Given the description of an element on the screen output the (x, y) to click on. 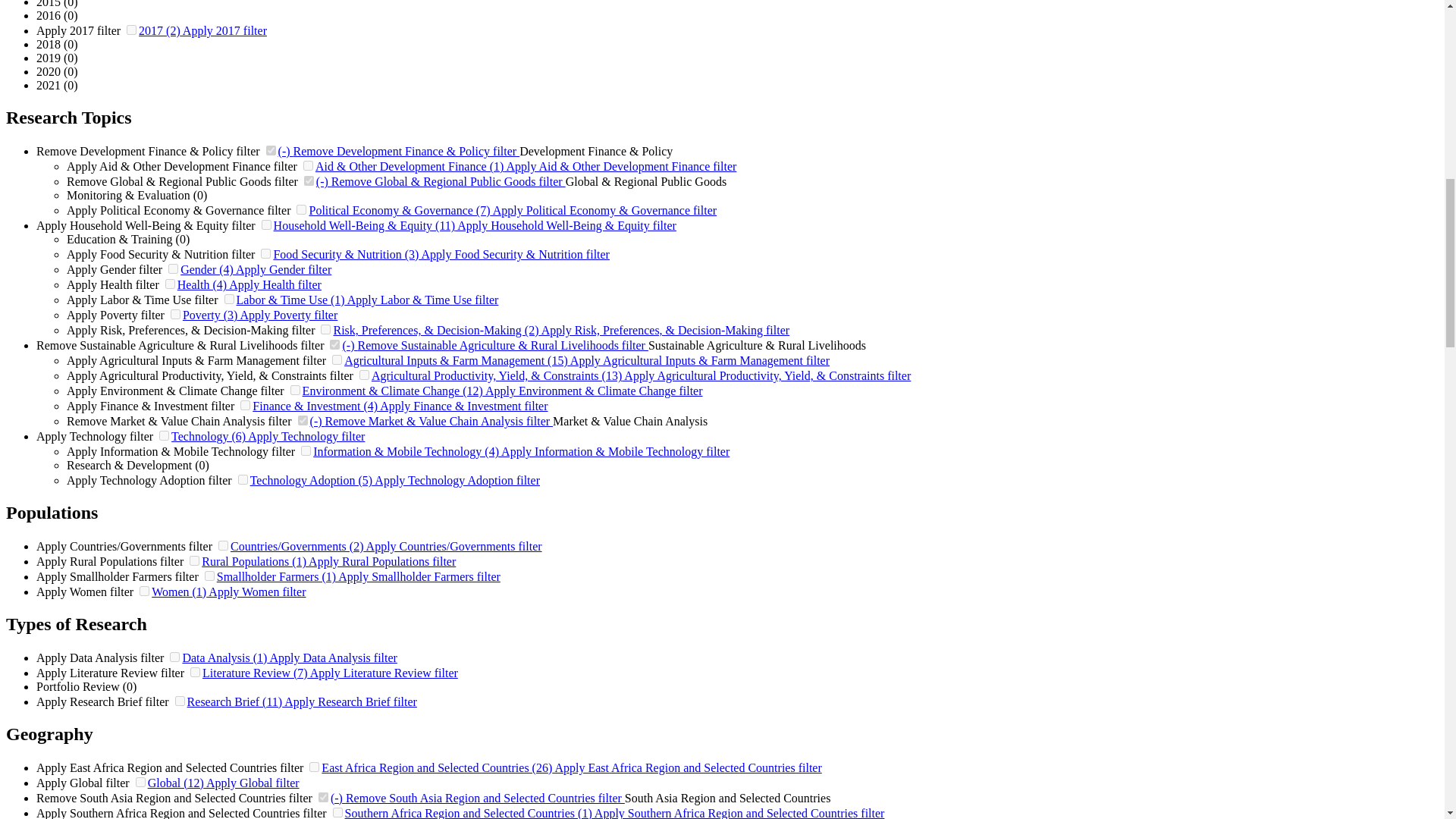
on (336, 359)
on (364, 375)
on (325, 329)
on (172, 268)
on (301, 209)
on (229, 298)
on (271, 150)
on (334, 344)
on (266, 225)
on (175, 314)
on (265, 253)
on (131, 30)
on (309, 180)
on (307, 165)
on (169, 284)
